Given the description of an element on the screen output the (x, y) to click on. 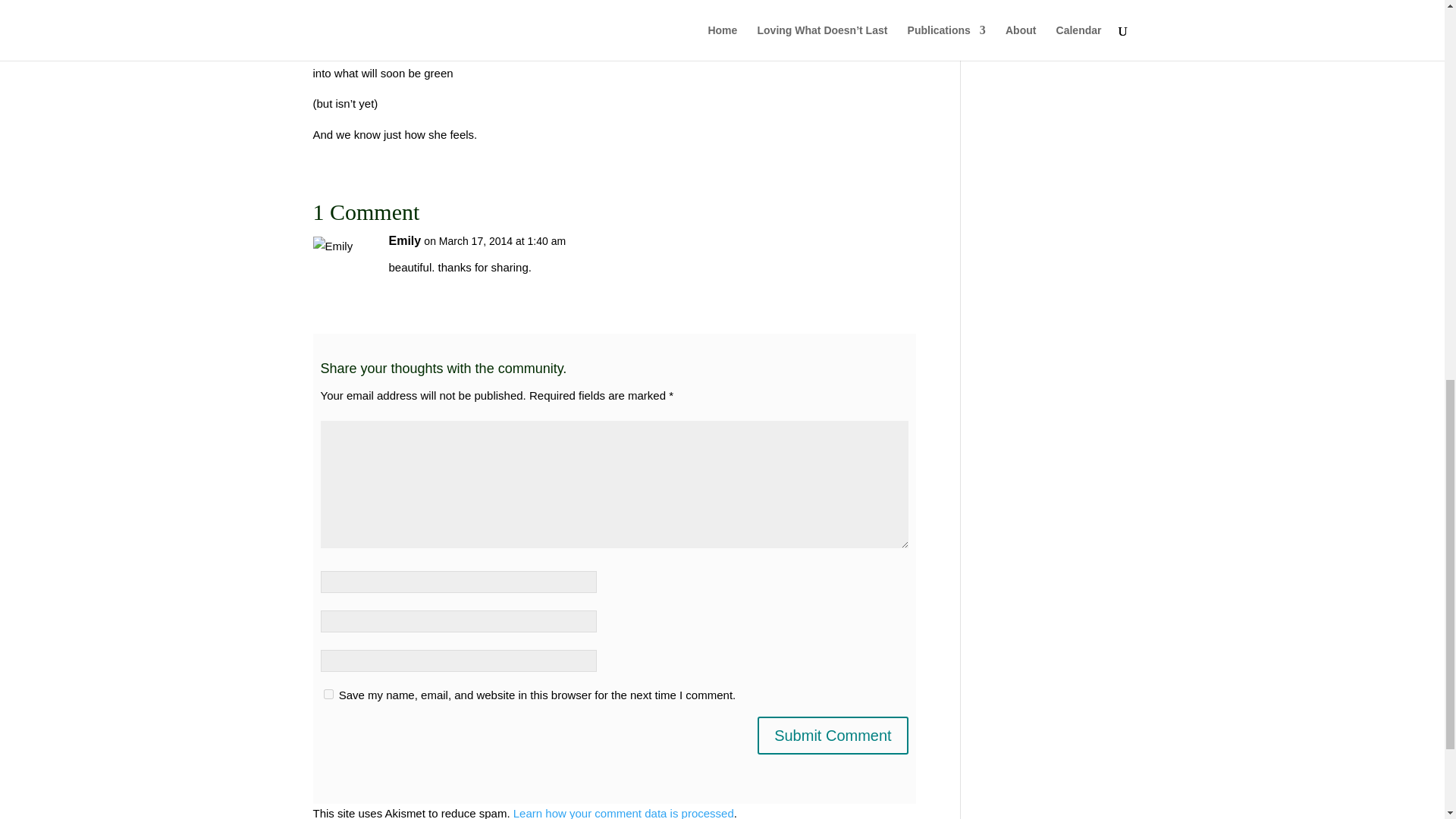
Reply (879, 255)
Learn how your comment data is processed (623, 812)
Submit Comment (832, 735)
yes (328, 694)
Submit Comment (832, 735)
